Given the description of an element on the screen output the (x, y) to click on. 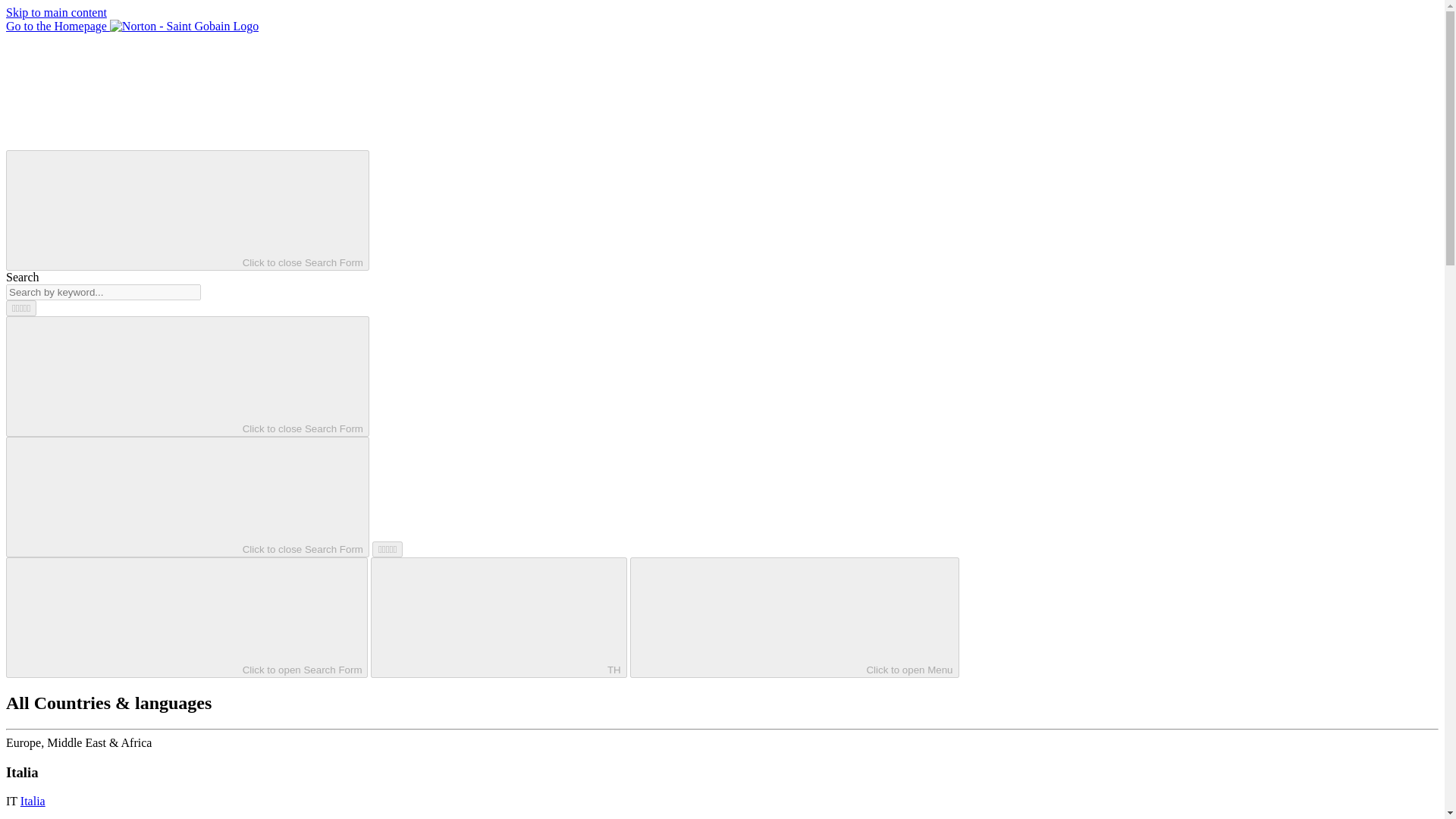
TH (498, 617)
Click to open Search Form (186, 617)
Click to open Menu (794, 617)
Click to close Search Form (187, 496)
Go to the Homepage (132, 25)
Click to close Search Form (187, 376)
Italia (32, 800)
Skip to main content (55, 11)
Click to close Search Form (187, 210)
